Given the description of an element on the screen output the (x, y) to click on. 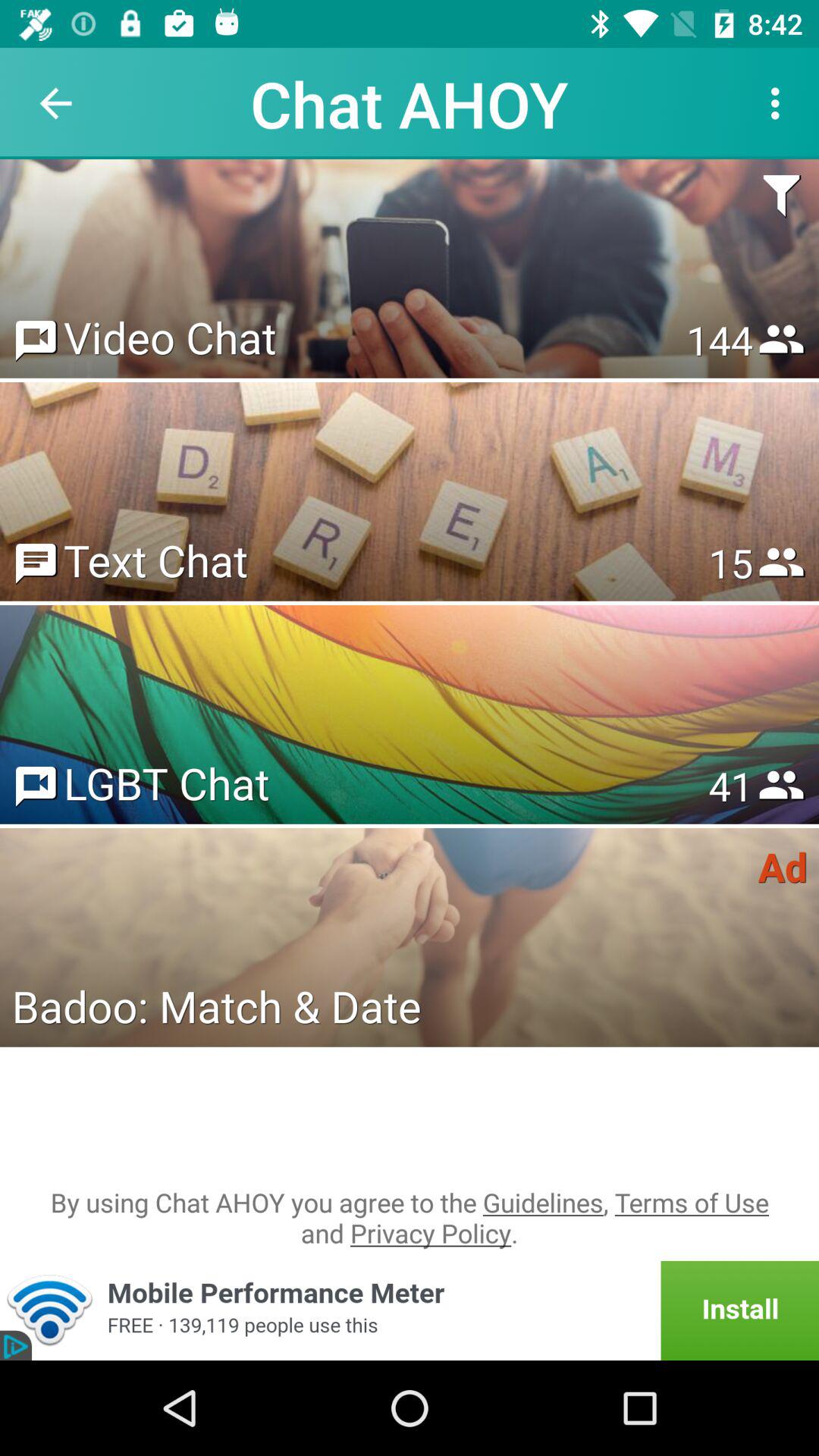
select the icon to the left of 153 item (169, 336)
